Given the description of an element on the screen output the (x, y) to click on. 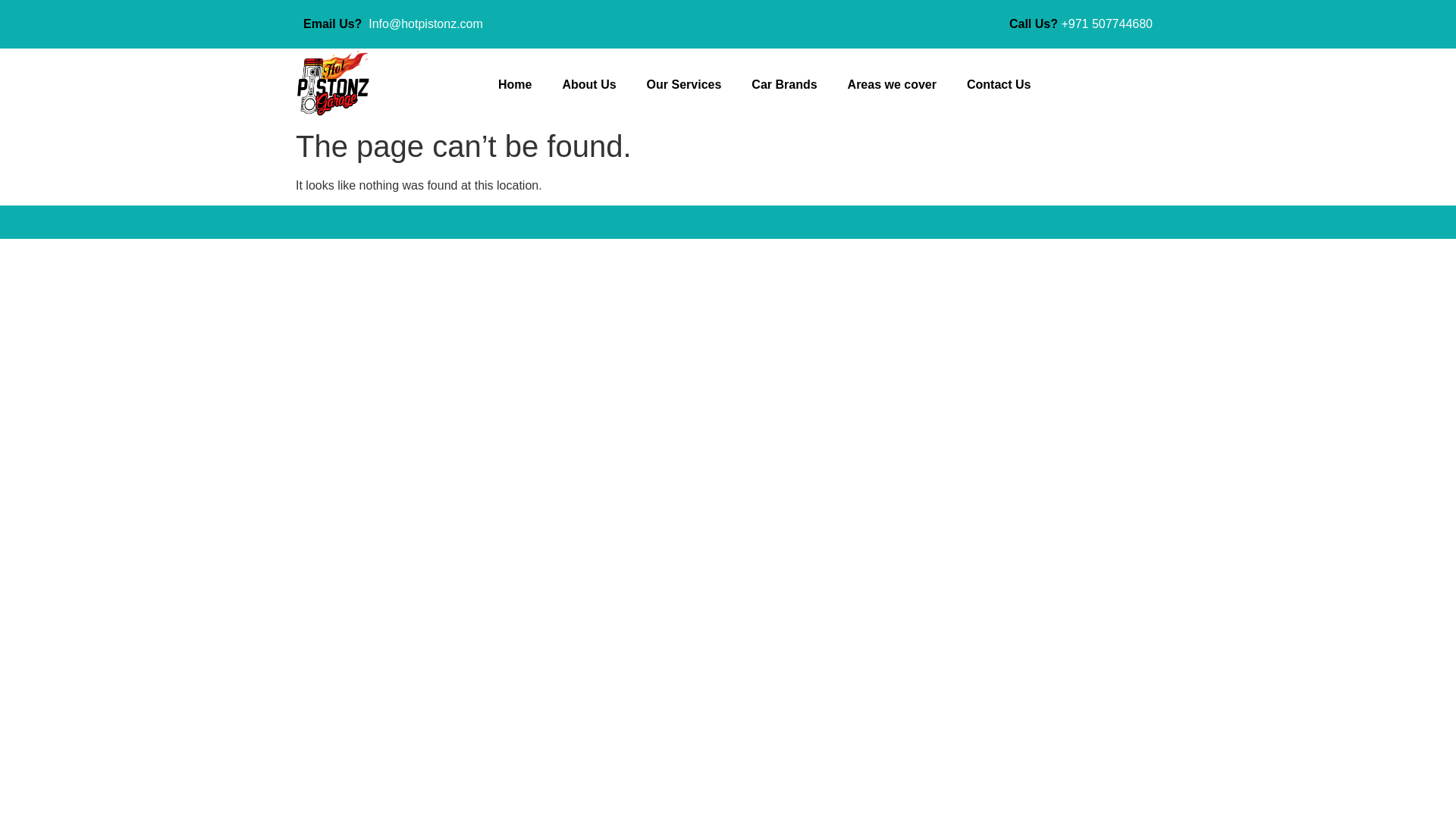
Areas we cover (892, 84)
Home (515, 84)
Contact Us (998, 84)
Our Services (683, 84)
About Us (588, 84)
Car Brands (783, 84)
